Given the description of an element on the screen output the (x, y) to click on. 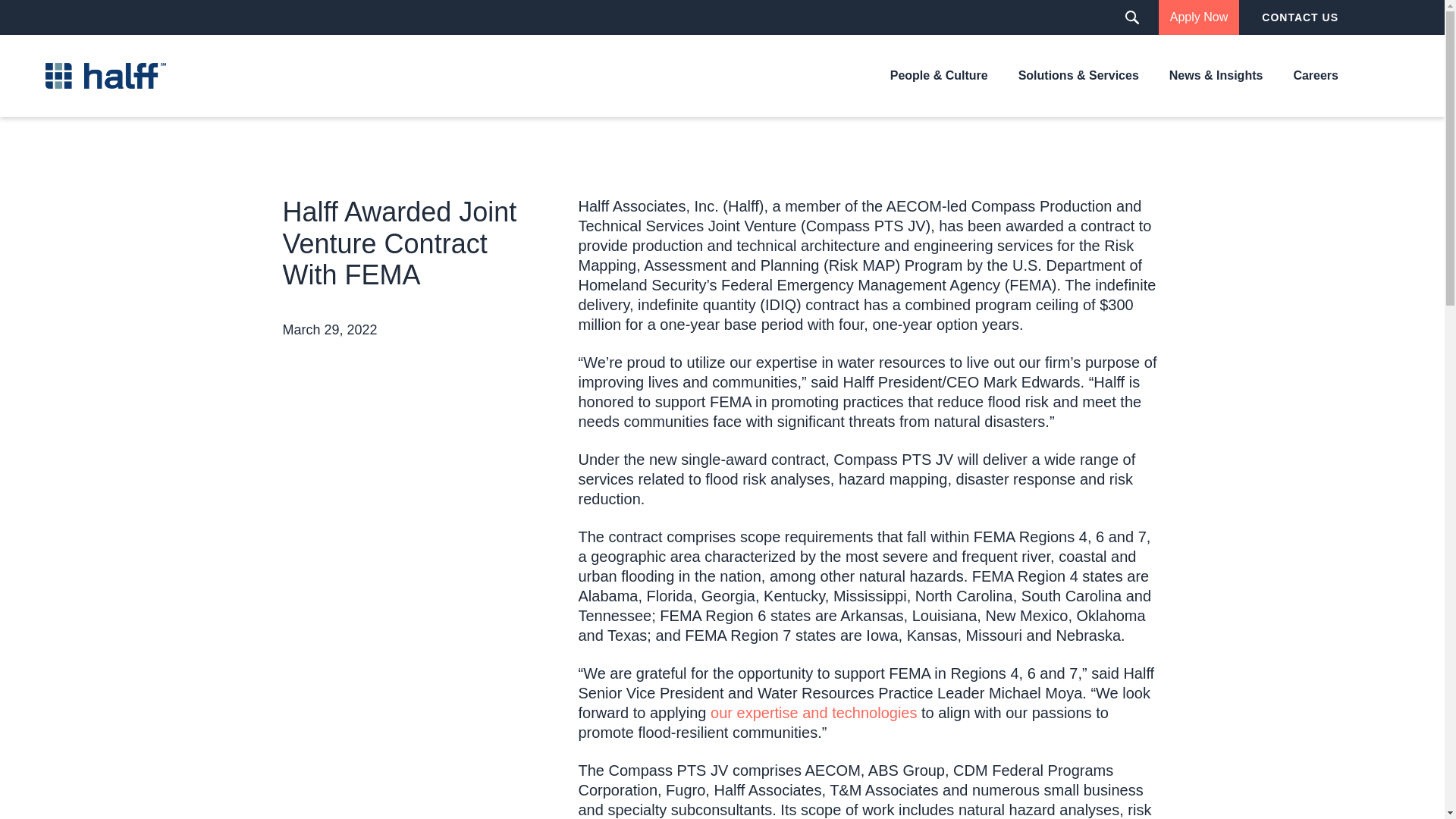
Apply Now (1198, 17)
CONTACT US (1300, 17)
